Given the description of an element on the screen output the (x, y) to click on. 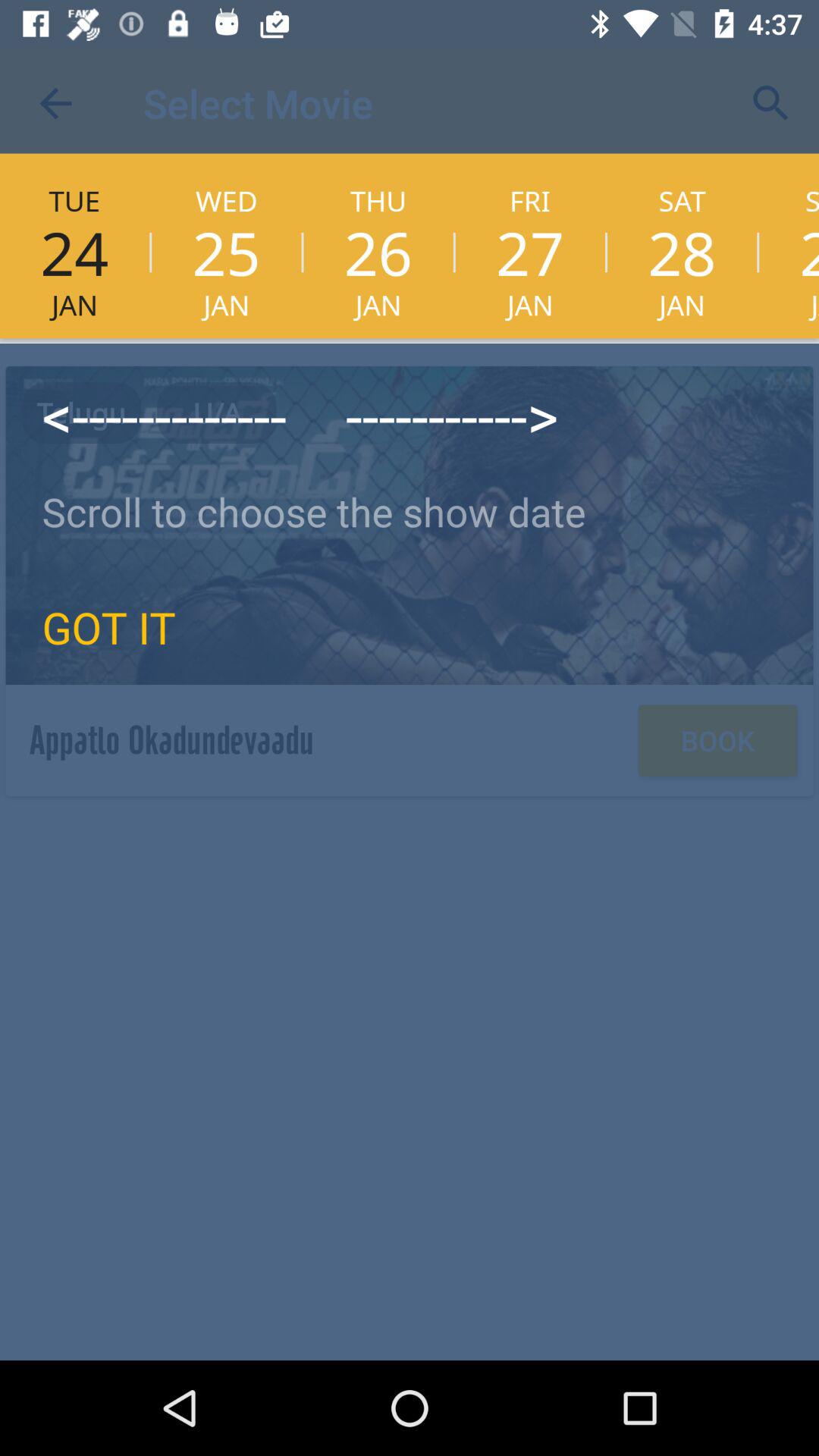
select the book (717, 740)
